Given the description of an element on the screen output the (x, y) to click on. 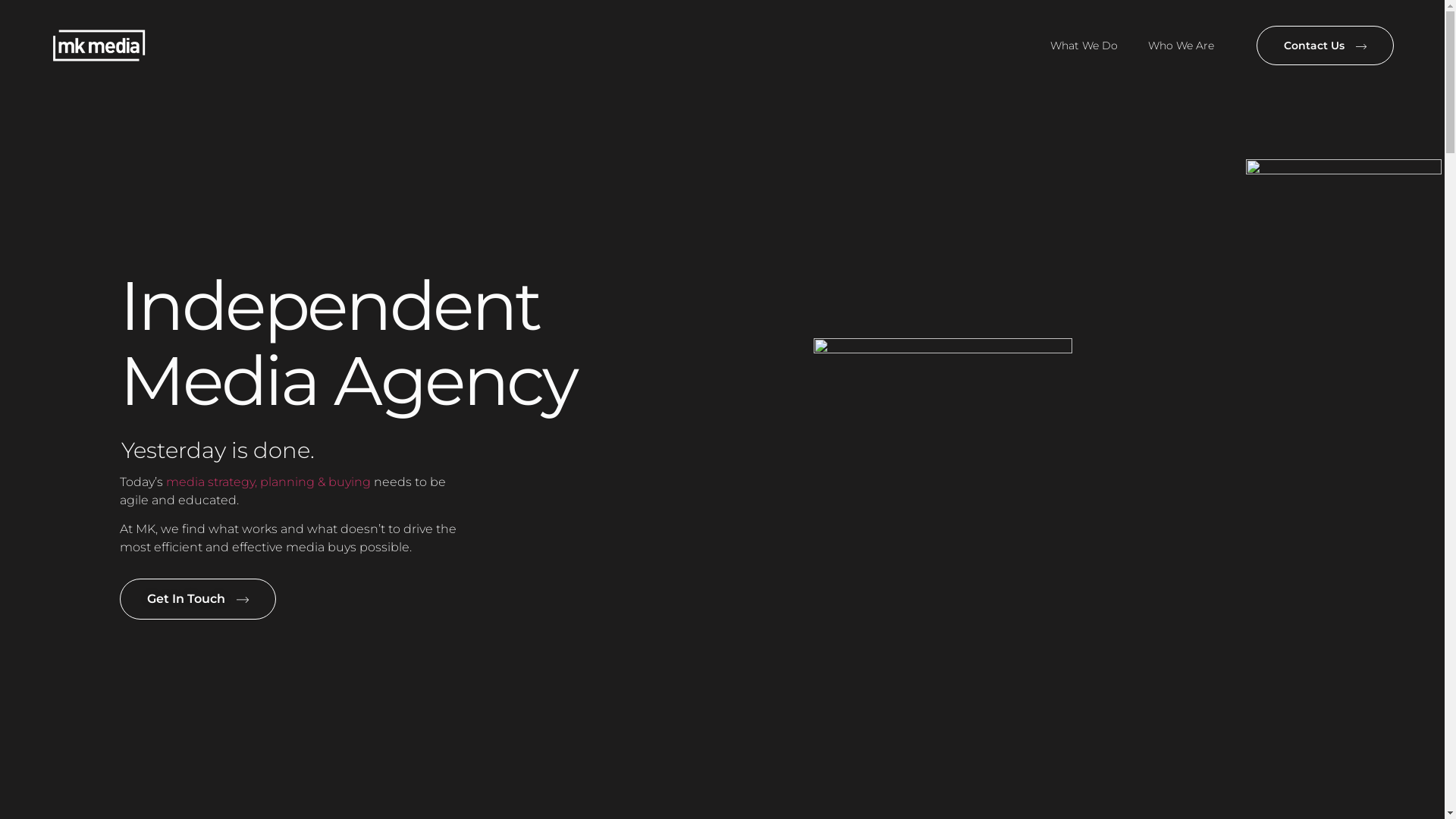
Contact Us Element type: text (1324, 45)
media strategy, planning & buying Element type: text (268, 481)
What We Do Element type: text (1083, 45)
Who We Are Element type: text (1181, 45)
Get In Touch Element type: text (197, 598)
